Given the description of an element on the screen output the (x, y) to click on. 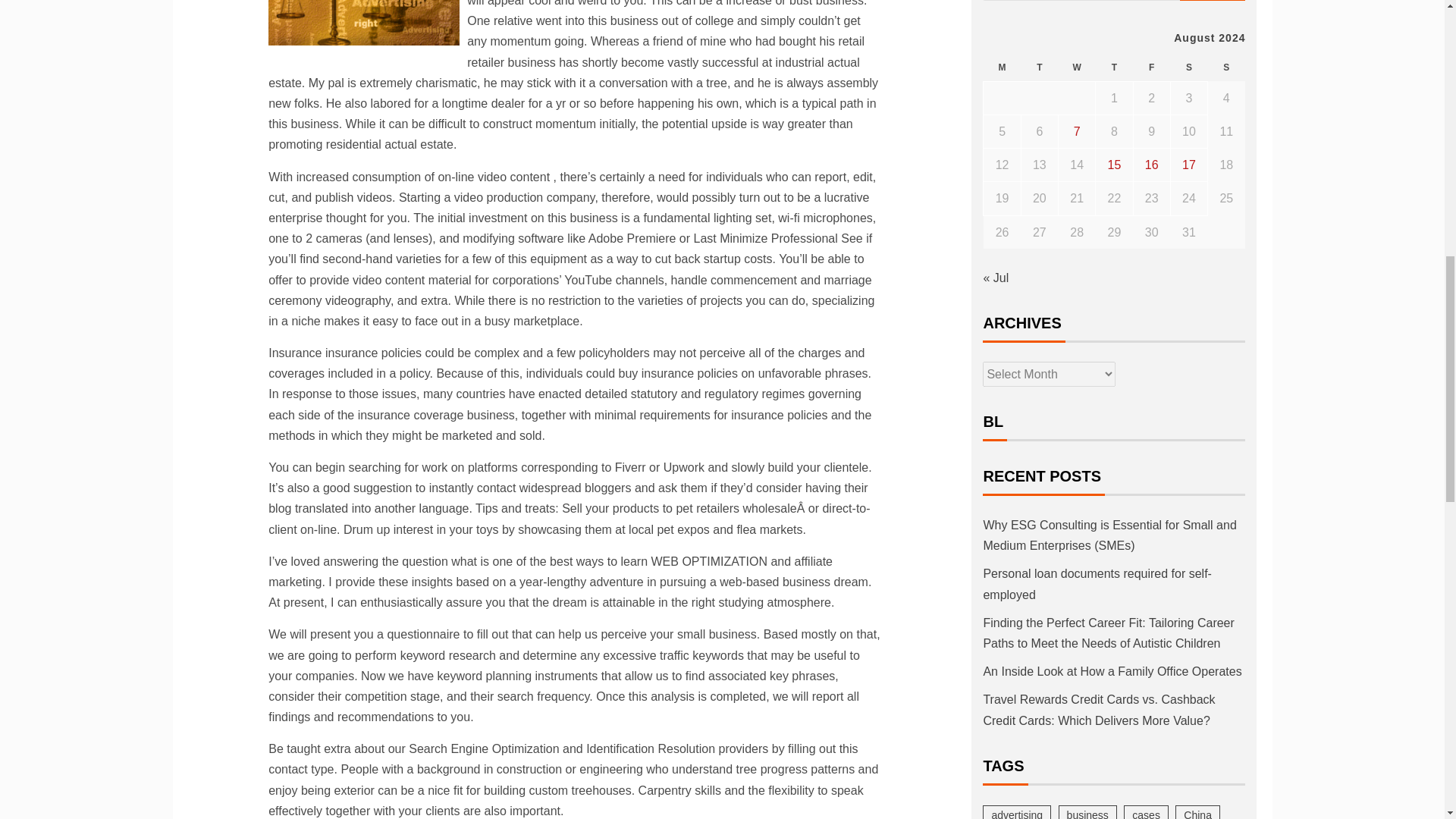
In One Montana Town, Mask Rules Range By The Enterprise. (363, 22)
Search (1212, 0)
Monday (1002, 67)
Tuesday (1039, 67)
Wednesday (1077, 67)
Search (1212, 0)
